Given the description of an element on the screen output the (x, y) to click on. 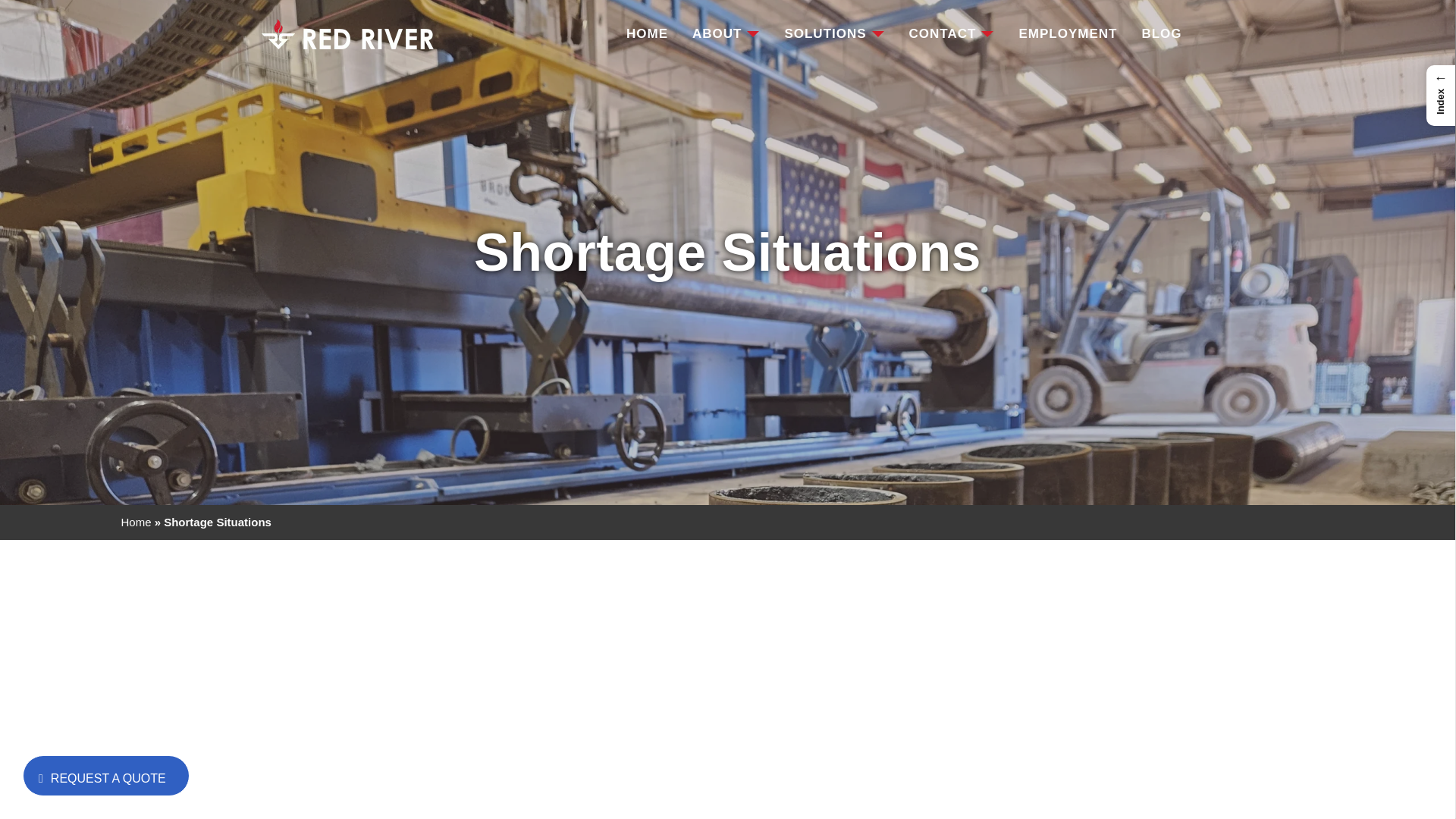
CONTACT (951, 38)
ABOUT (726, 38)
EMPLOYMENT (1066, 38)
HOME (647, 38)
Home (135, 521)
BLOG (1160, 38)
SOLUTIONS (833, 38)
